Given the description of an element on the screen output the (x, y) to click on. 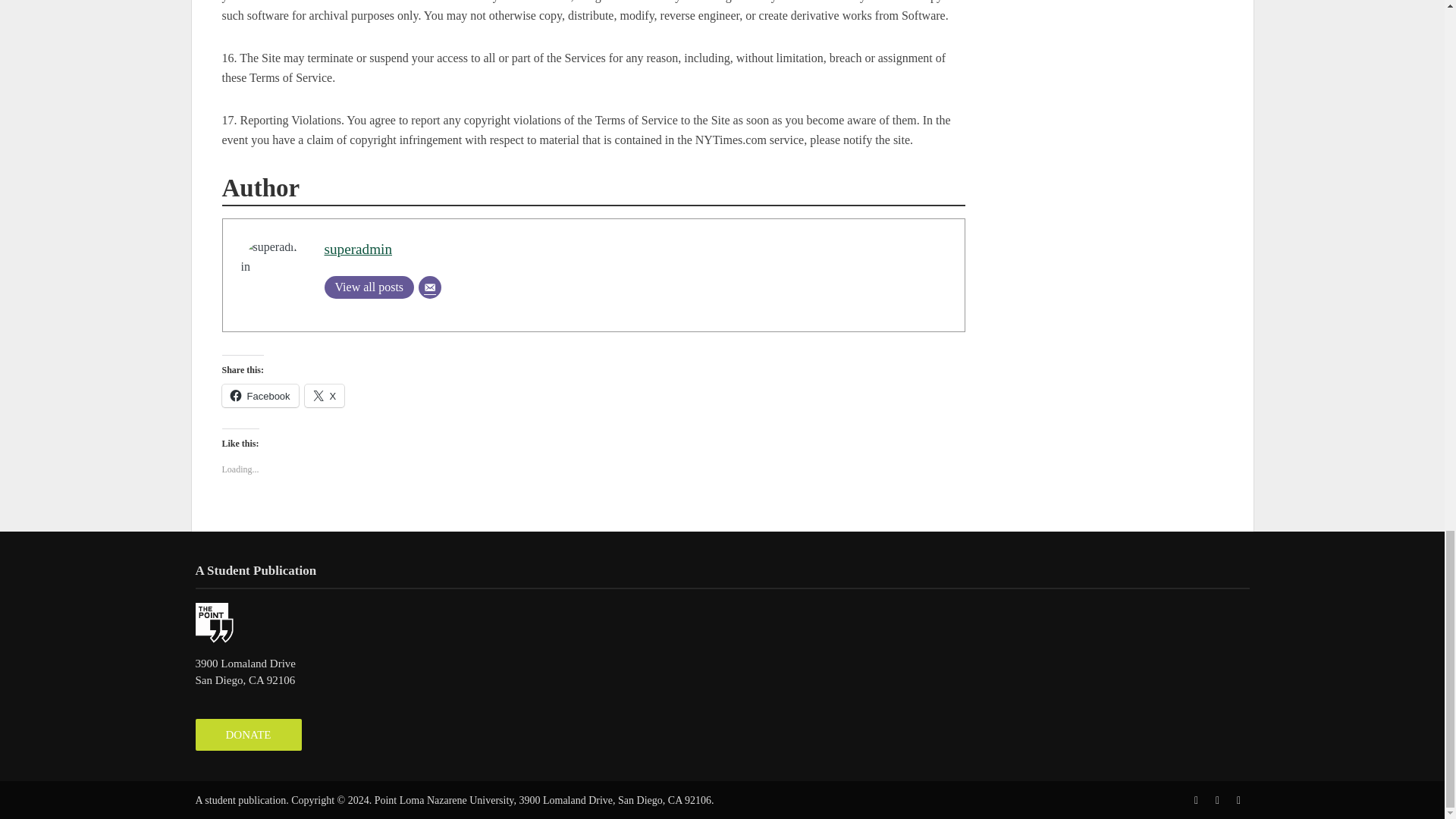
superadmin (358, 248)
Click to share on Facebook (259, 395)
X (324, 395)
Click to share on X (324, 395)
superadmin (358, 248)
View all posts (369, 287)
Facebook (259, 395)
View all posts (369, 287)
